Given the description of an element on the screen output the (x, y) to click on. 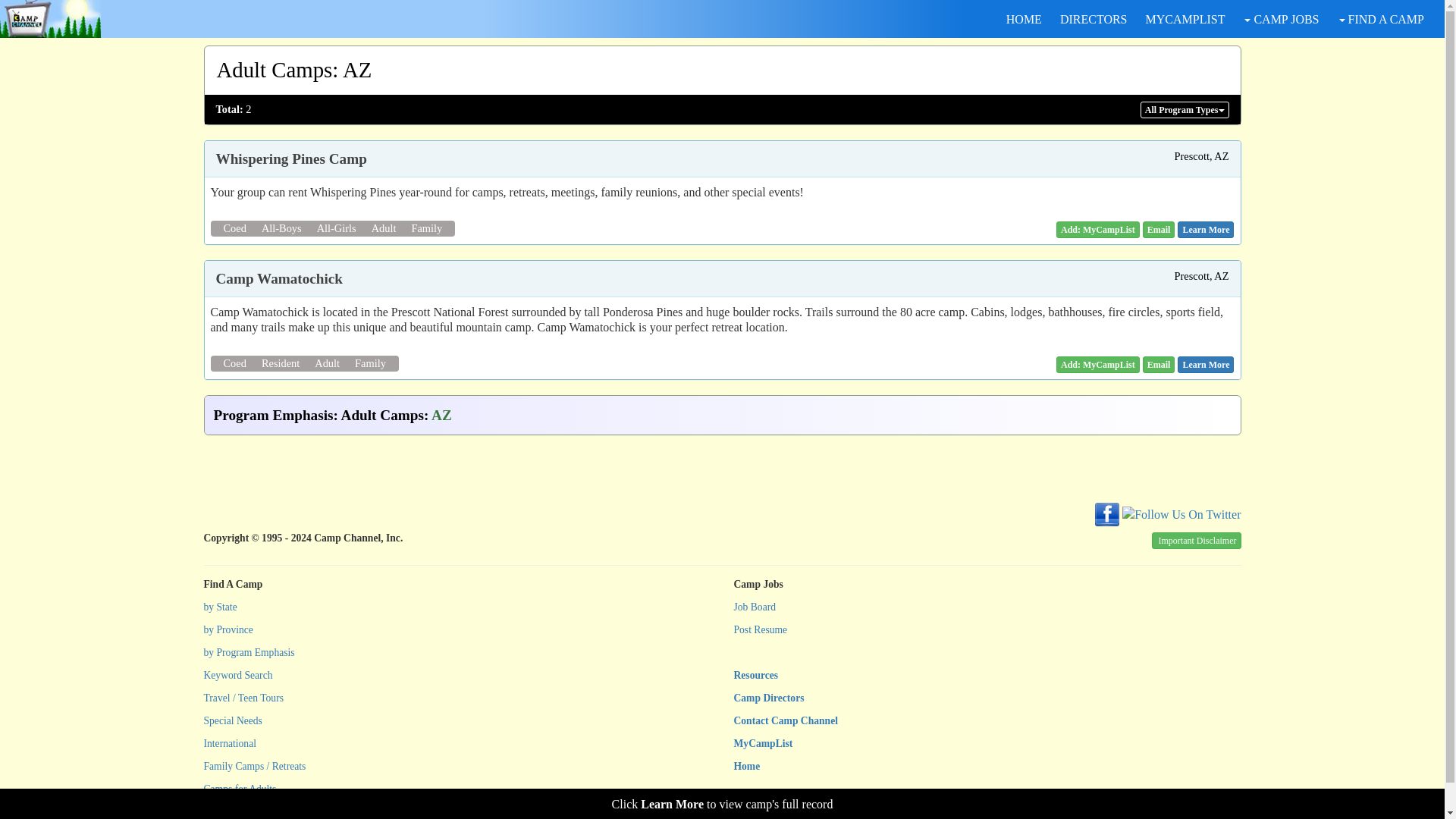
All Program Types (1184, 109)
HOME (1024, 19)
MYCAMPLIST (1184, 19)
Add: MyCampList (1098, 229)
Adult Camps (274, 69)
Add: MyCampList (1098, 364)
CAMP JOBS (1280, 19)
FIND A CAMP (1379, 19)
DIRECTORS (1094, 19)
AZ (356, 69)
